Given the description of an element on the screen output the (x, y) to click on. 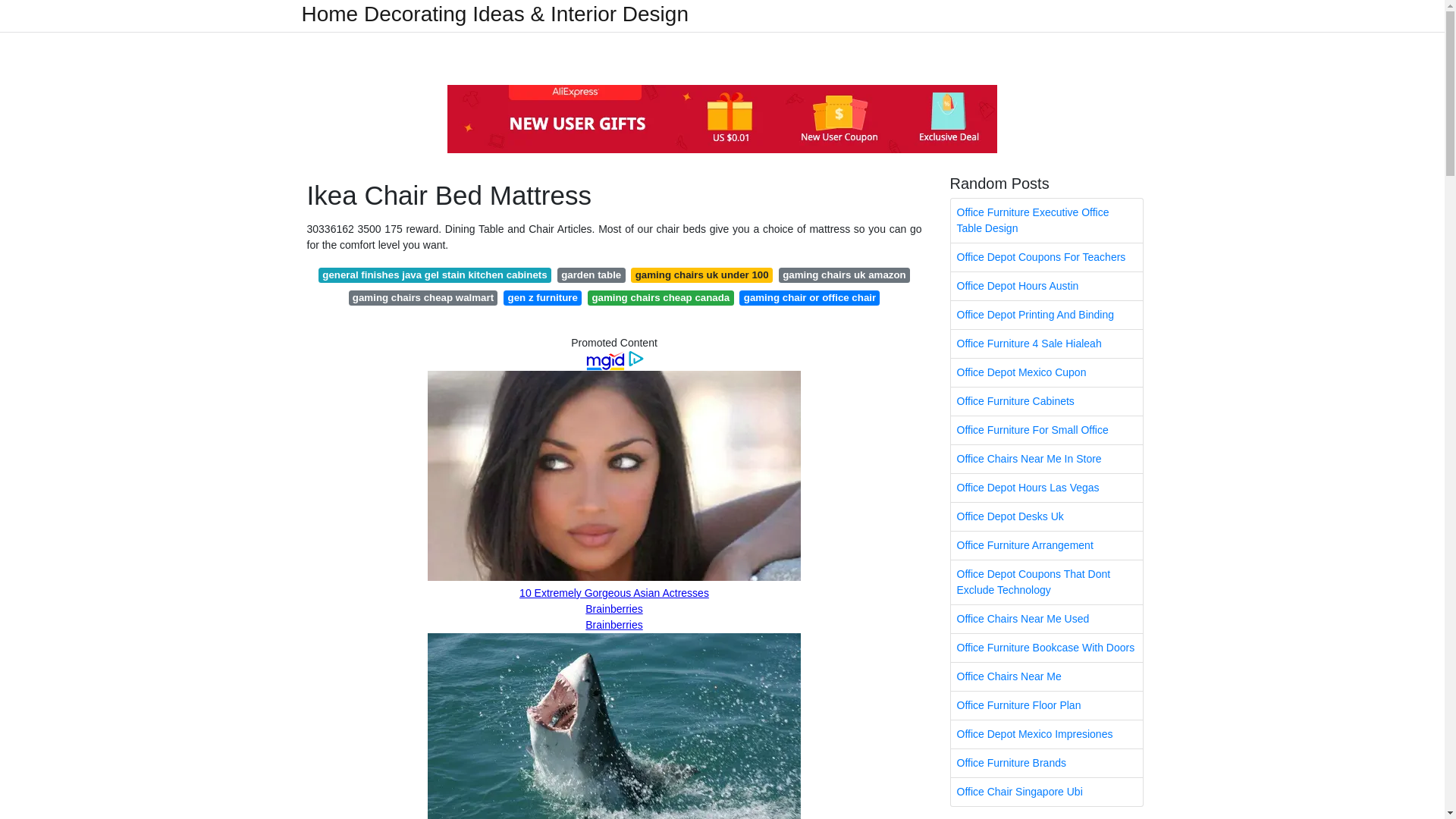
Office Depot Coupons For Teachers (1046, 257)
gen z furniture (541, 297)
Office Furniture Cabinets (1046, 401)
Office Chairs Near Me In Store (1046, 459)
Office Furniture For Small Office (1046, 430)
Office Depot Mexico Cupon (1046, 372)
Office Furniture Executive Office Table Design (1046, 220)
Office Depot Printing And Binding (1046, 315)
gaming chairs uk amazon (844, 274)
garden table (591, 274)
gaming chairs cheap canada (660, 297)
Office Furniture 4 Sale Hialeah (1046, 343)
gaming chairs cheap walmart (423, 297)
gaming chairs uk under 100 (701, 274)
gaming chair or office chair (809, 297)
